Given the description of an element on the screen output the (x, y) to click on. 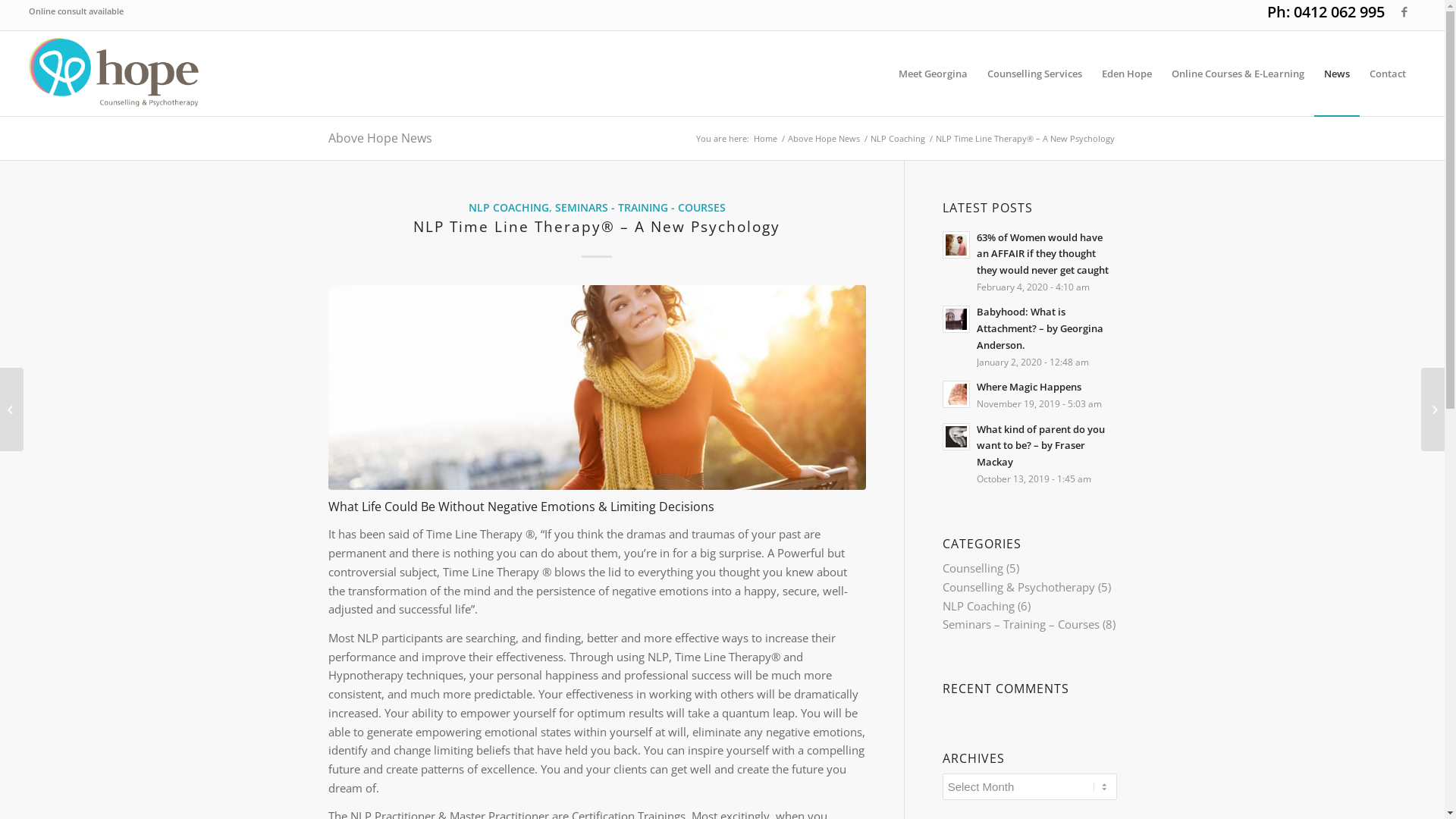
Where Magic Happens
November 19, 2019 - 5:03 am Element type: text (1029, 394)
SEMINARS - TRAINING - COURSES Element type: text (640, 207)
Above Hope News Element type: text (823, 138)
NLP COACHING Element type: text (508, 207)
Counselling & Psychotherapy Element type: text (1018, 586)
NLP Coaching Element type: text (896, 138)
NLP Coaching Element type: text (978, 605)
Above Hope News Element type: text (379, 137)
News Element type: text (1336, 73)
Home Element type: text (764, 138)
Eden Hope Element type: text (1126, 73)
Counselling Element type: text (972, 567)
Facebook Element type: hover (1404, 11)
Online consult available Element type: text (75, 10)
Counselling Services Element type: text (1034, 73)
Contact Element type: text (1387, 73)
Meet Georgina Element type: text (932, 73)
Online Courses & E-Learning Element type: text (1237, 73)
